Given the description of an element on the screen output the (x, y) to click on. 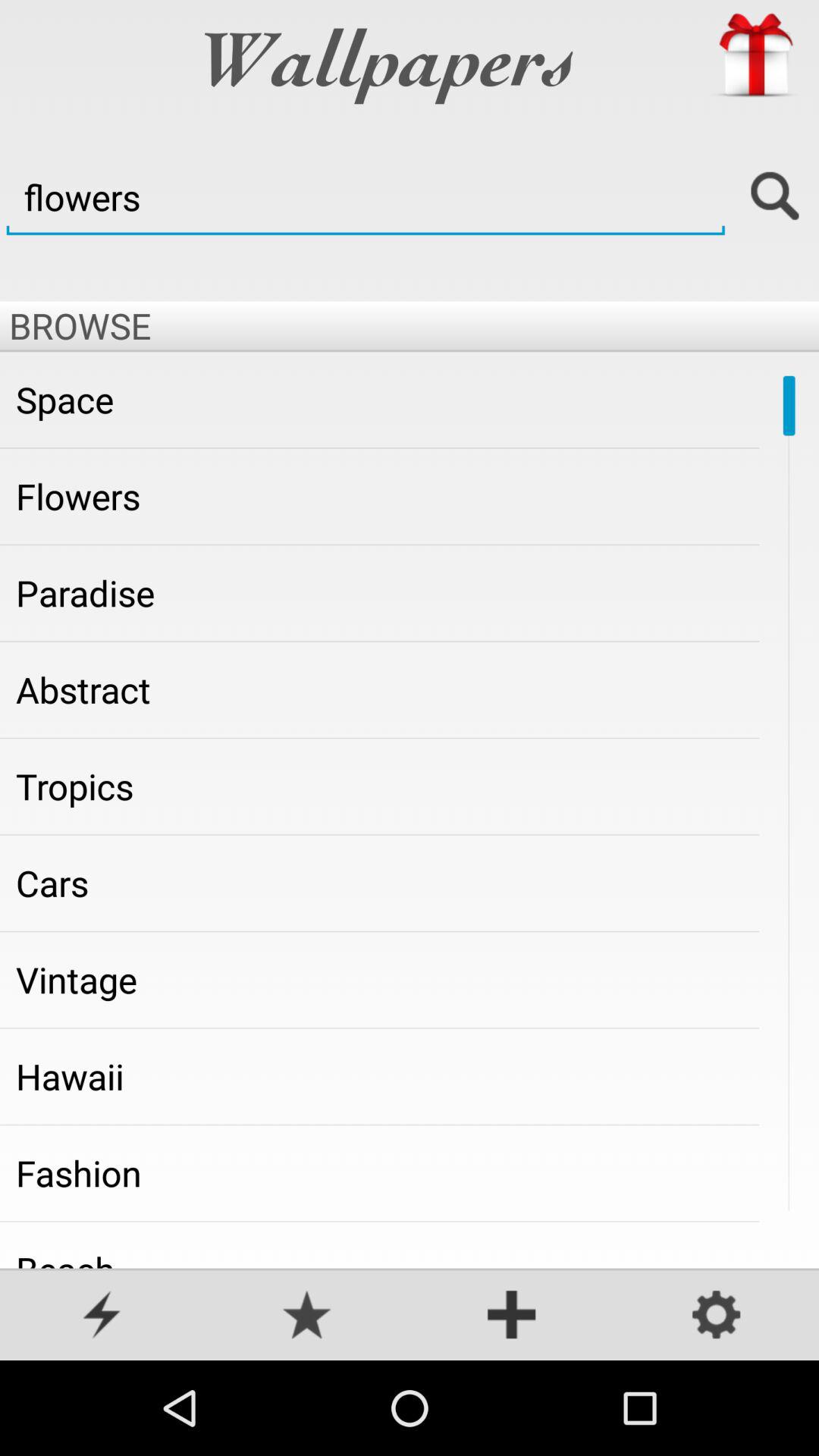
rating (306, 1316)
